Given the description of an element on the screen output the (x, y) to click on. 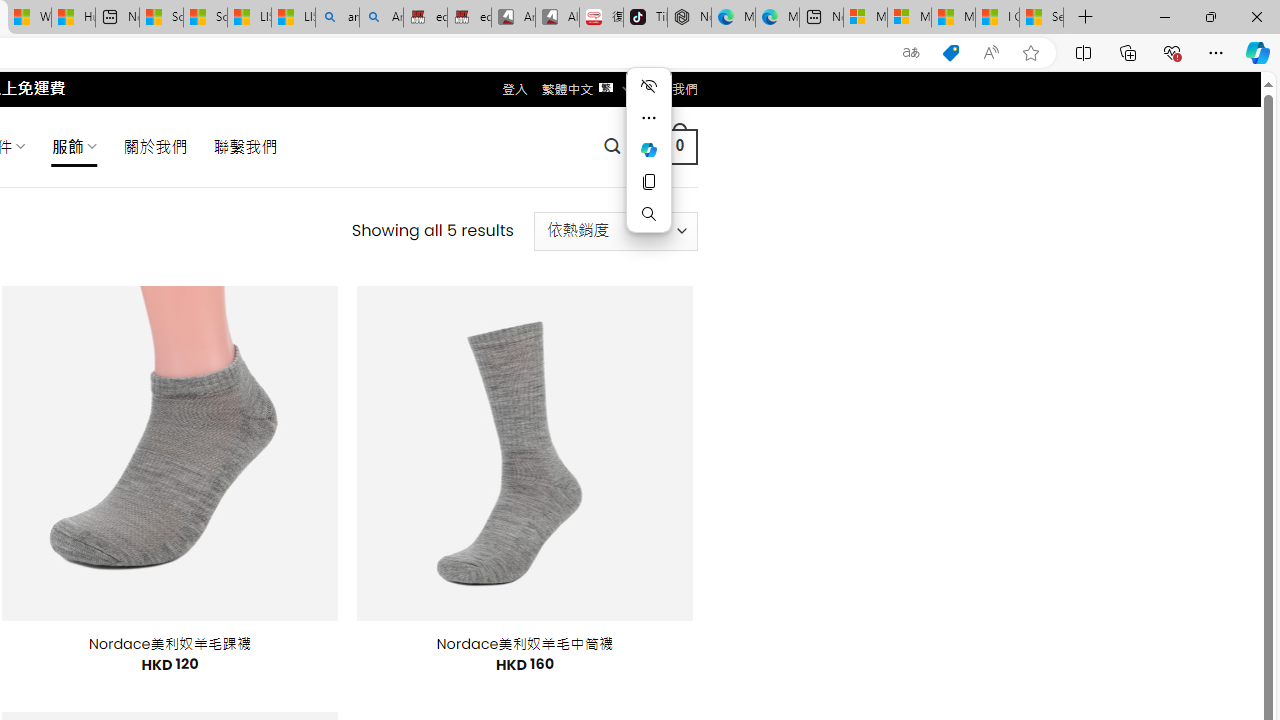
Show translate options (910, 53)
Microsoft account | Privacy (909, 17)
amazon - Search (337, 17)
Mini menu on text selection (648, 161)
Hide menu (648, 85)
Close (1256, 16)
